Given the description of an element on the screen output the (x, y) to click on. 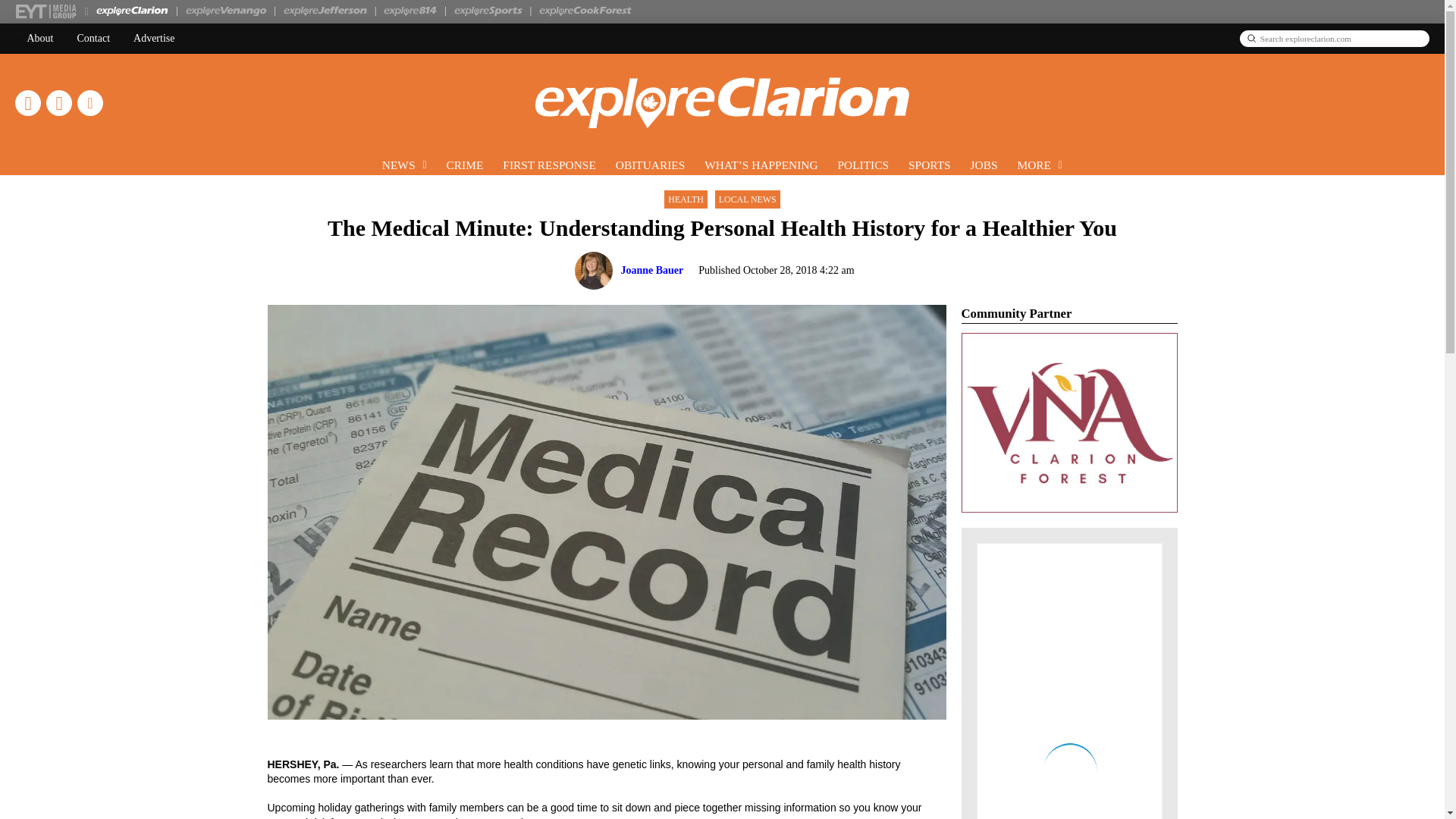
CRIME (464, 163)
POLITICS (863, 163)
OBITUARIES (650, 163)
MORE (1040, 163)
SPORTS (929, 163)
FIRST RESPONSE (549, 163)
NEWS (404, 163)
Advertise (154, 38)
JOBS (983, 163)
Submit (1251, 38)
